Given the description of an element on the screen output the (x, y) to click on. 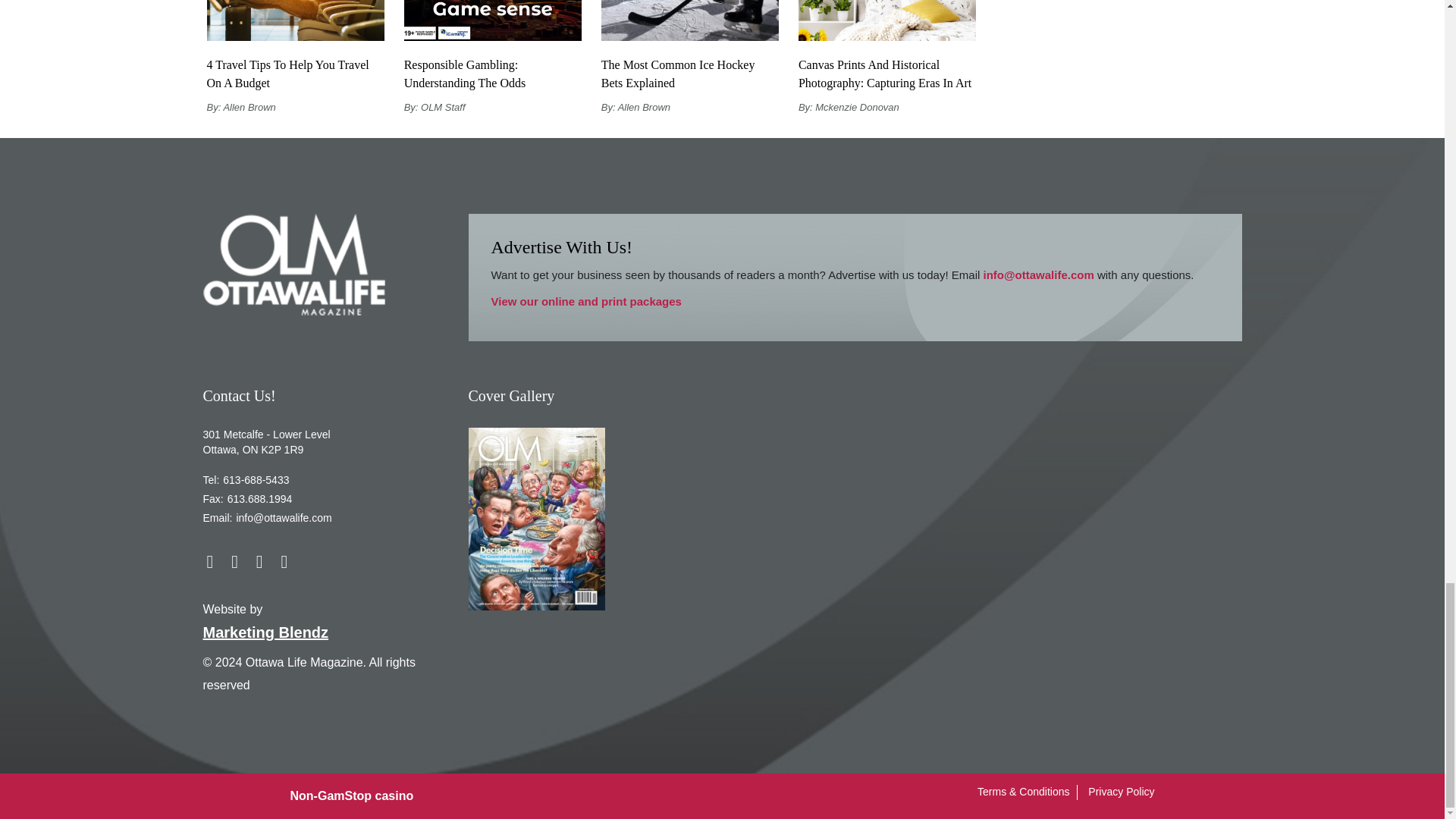
Cover Gallery (536, 518)
